Given the description of an element on the screen output the (x, y) to click on. 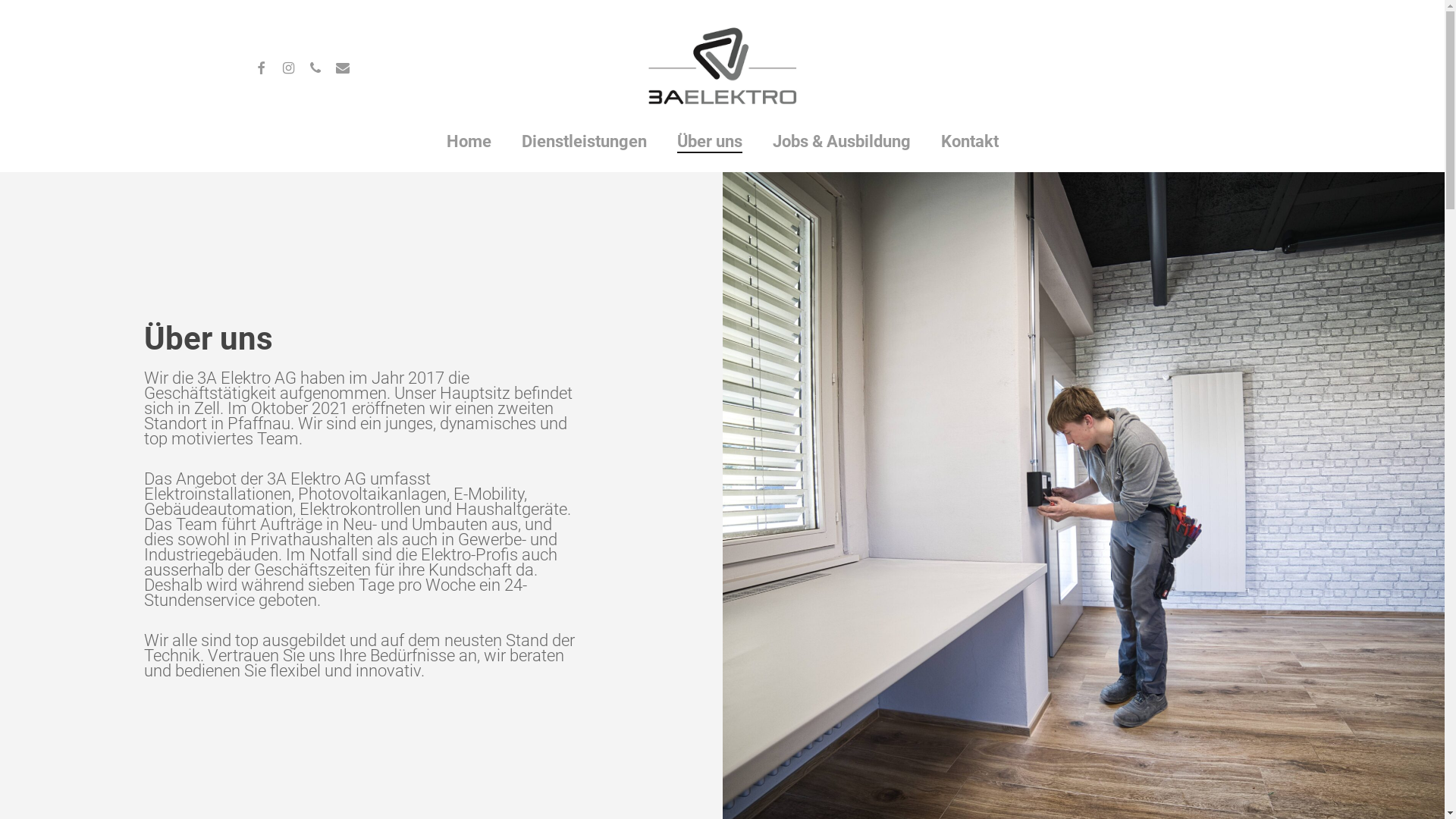
Jobs & Ausbildung Element type: text (840, 141)
facebook Element type: text (260, 66)
instagram Element type: text (287, 66)
Dienstleistungen Element type: text (583, 141)
Kontakt Element type: text (968, 141)
phone Element type: text (315, 66)
email Element type: text (342, 66)
Home Element type: text (467, 141)
